Given the description of an element on the screen output the (x, y) to click on. 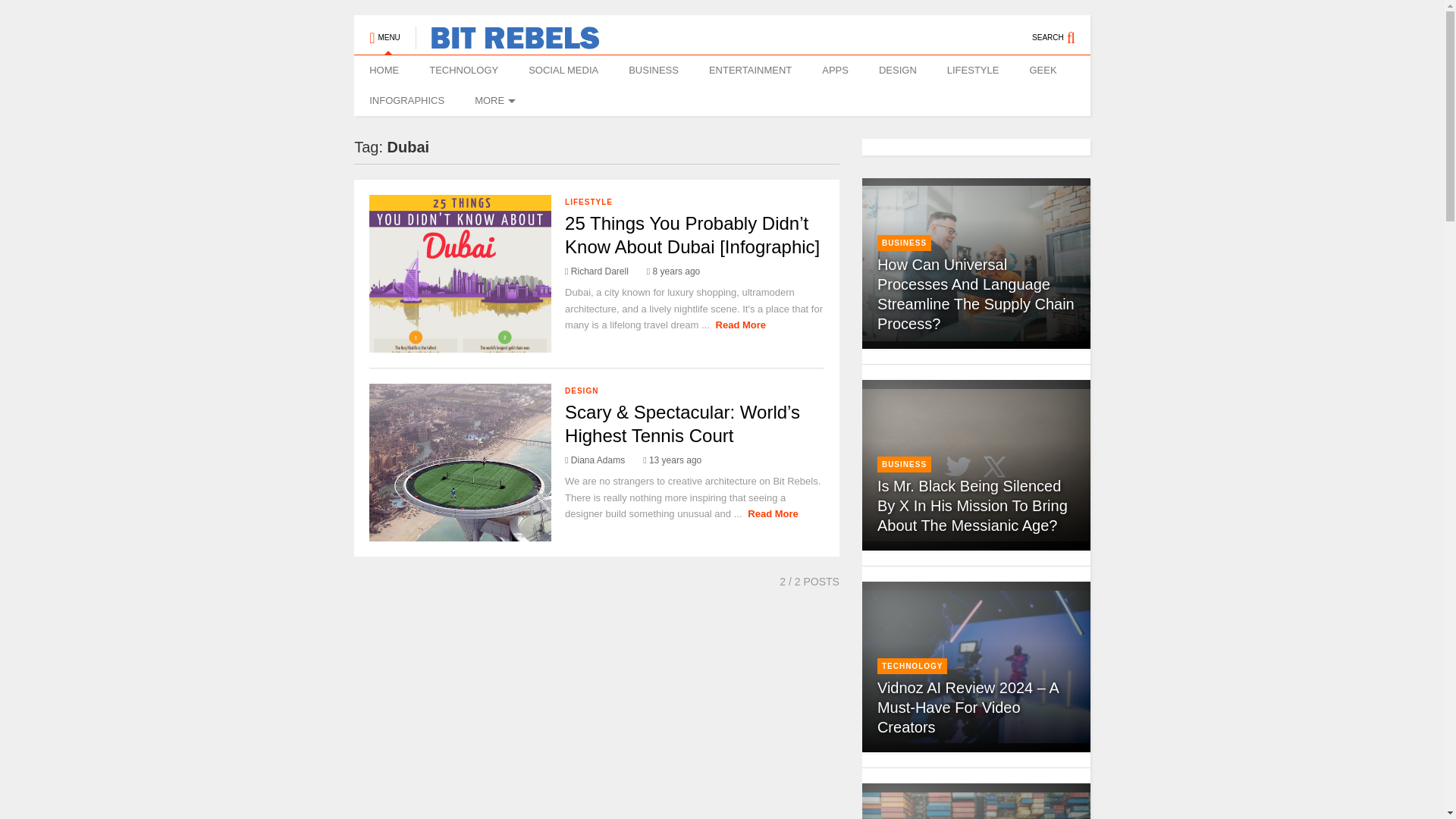
MENU (383, 30)
SEARCH (1061, 30)
ENTERTAINMENT (750, 70)
TECHNOLOGY (463, 70)
LIFESTYLE (972, 70)
BUSINESS (653, 70)
